Given the description of an element on the screen output the (x, y) to click on. 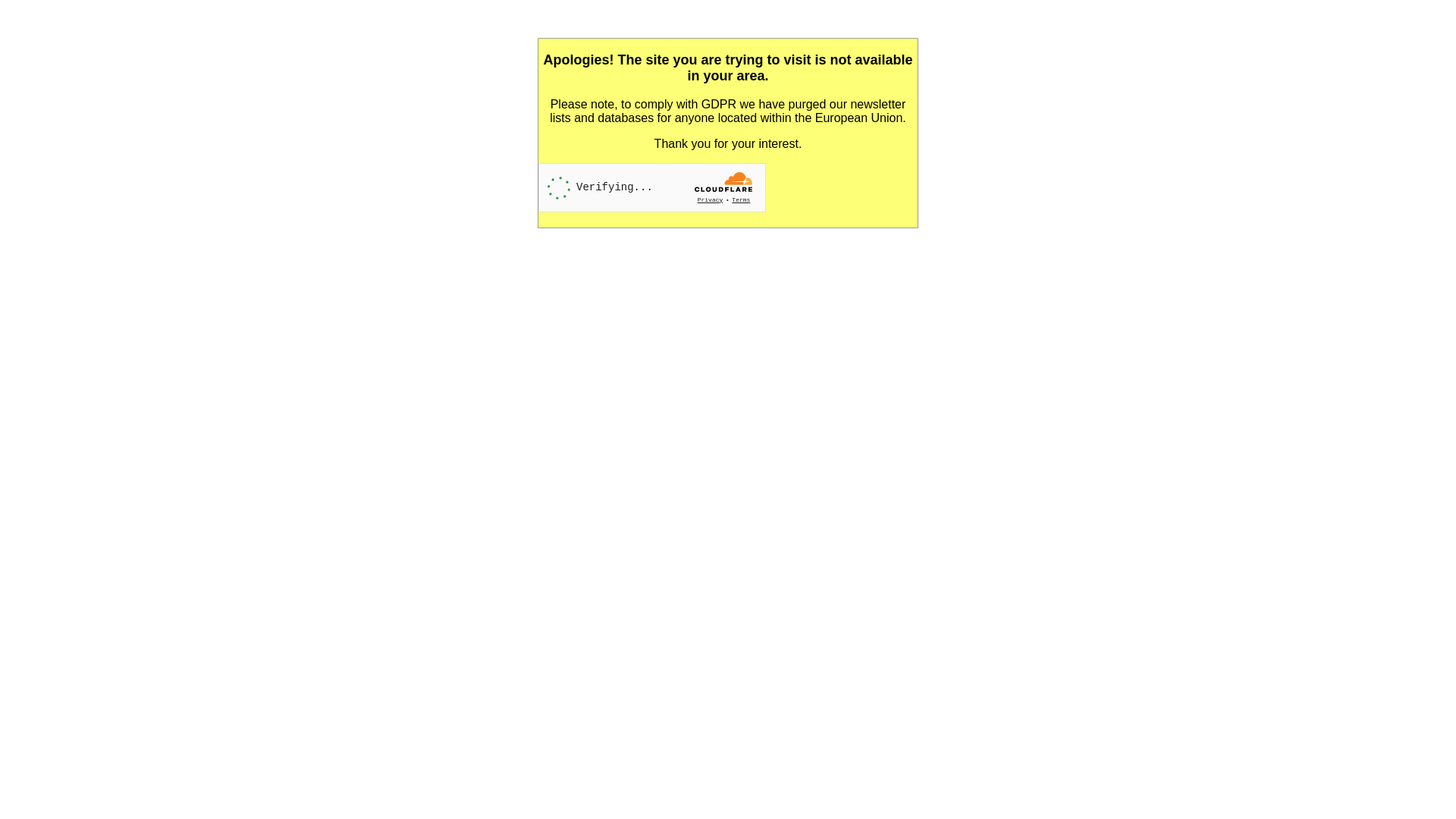
Widget containing a Cloudflare security challenge Element type: hover (651, 187)
